Given the description of an element on the screen output the (x, y) to click on. 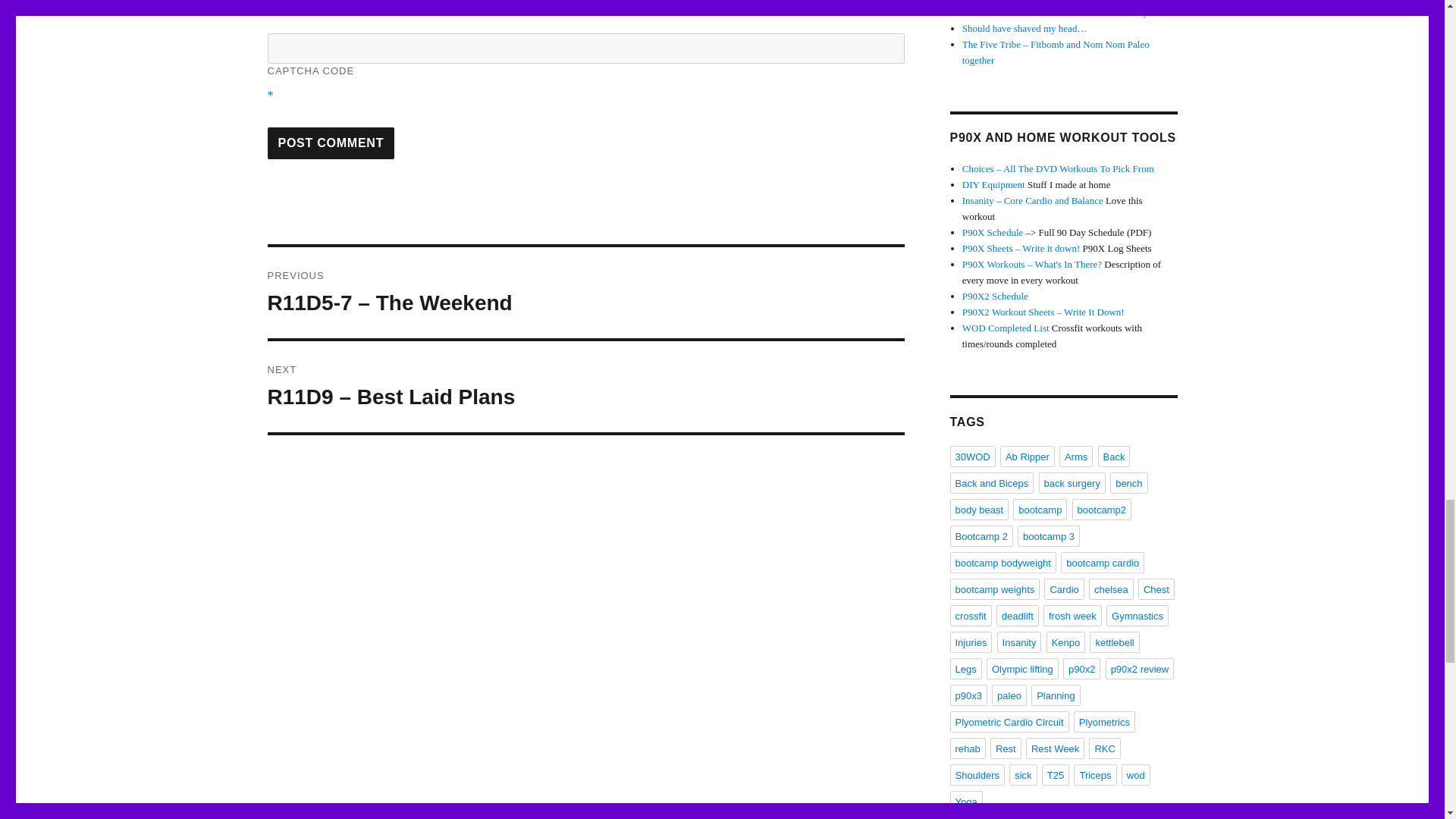
Post Comment (330, 142)
Post Comment (330, 142)
CAPTCHA (316, 12)
Refresh (375, 4)
